Given the description of an element on the screen output the (x, y) to click on. 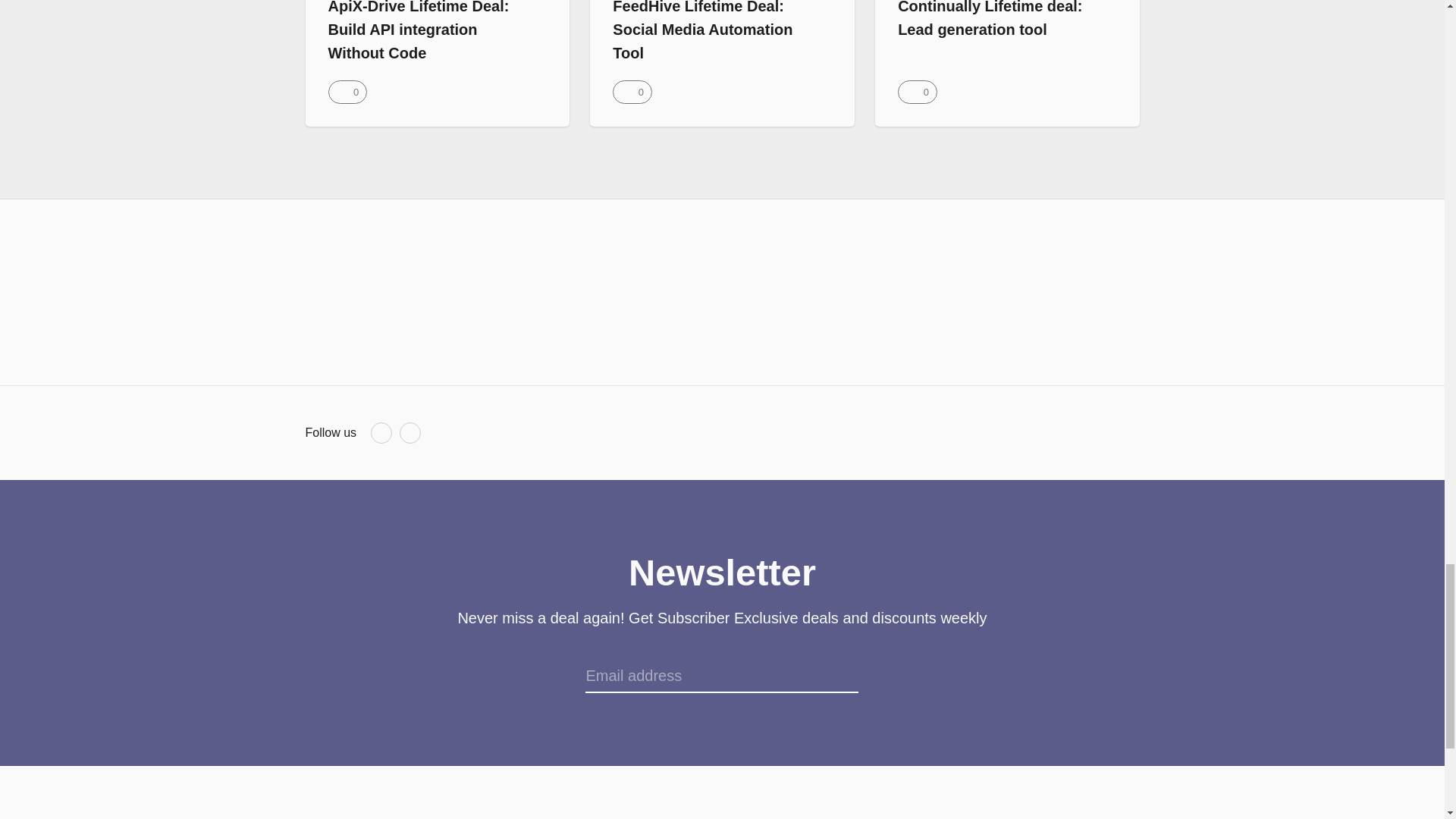
Twitter (409, 432)
Upvote (346, 92)
Facebook (381, 432)
Upvote (631, 92)
Upvote (917, 92)
